Given the description of an element on the screen output the (x, y) to click on. 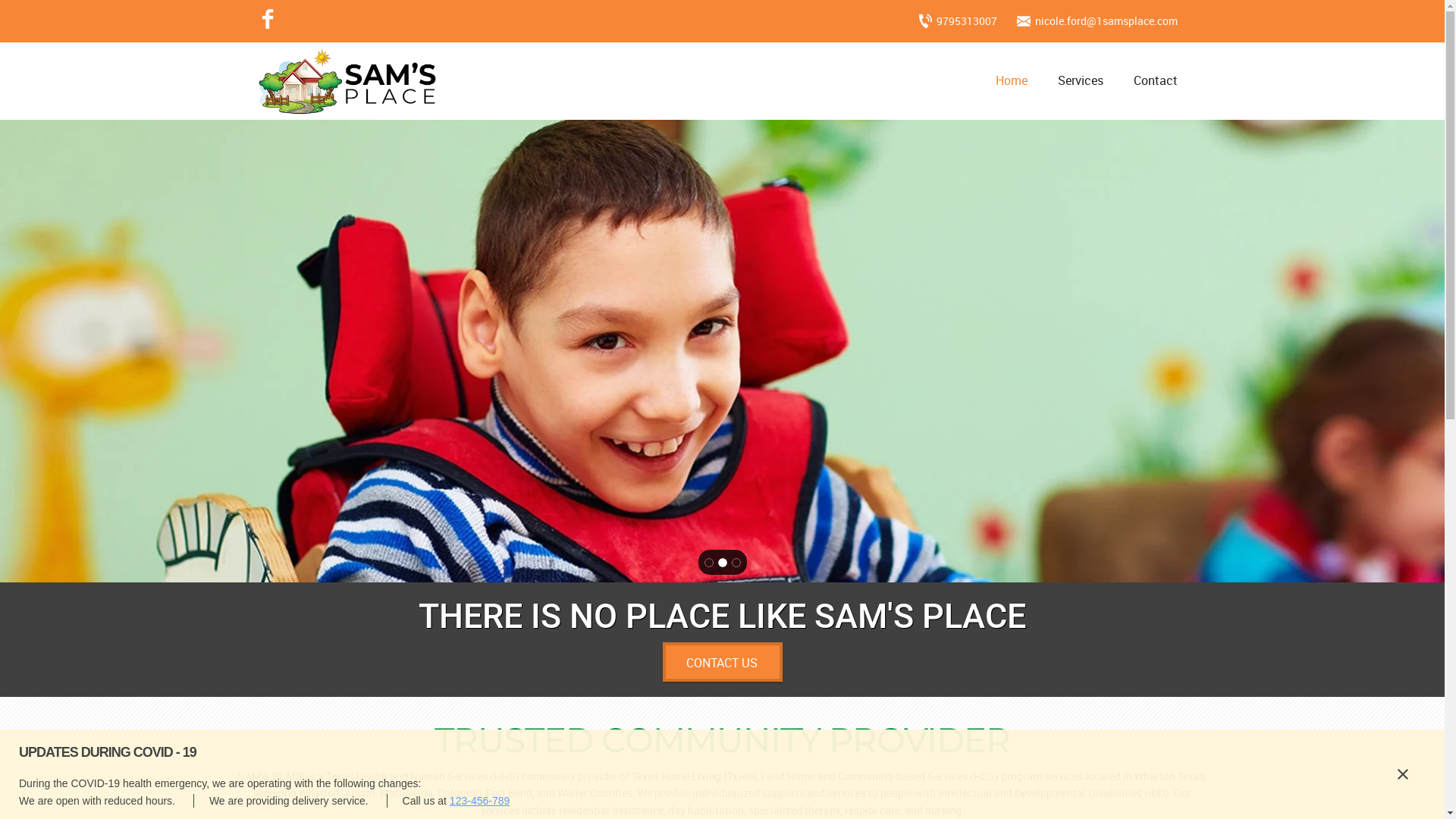
Go to site home page Element type: hover (346, 81)
Home Element type: text (1010, 84)
9795313007 Element type: text (962, 20)
Services Element type: text (1079, 84)
nicole.ford@1samsplace.com Element type: text (1101, 20)
123-456-789 Element type: text (479, 800)
CONTACT US Element type: text (722, 656)
Contact Element type: text (1154, 84)
